Given the description of an element on the screen output the (x, y) to click on. 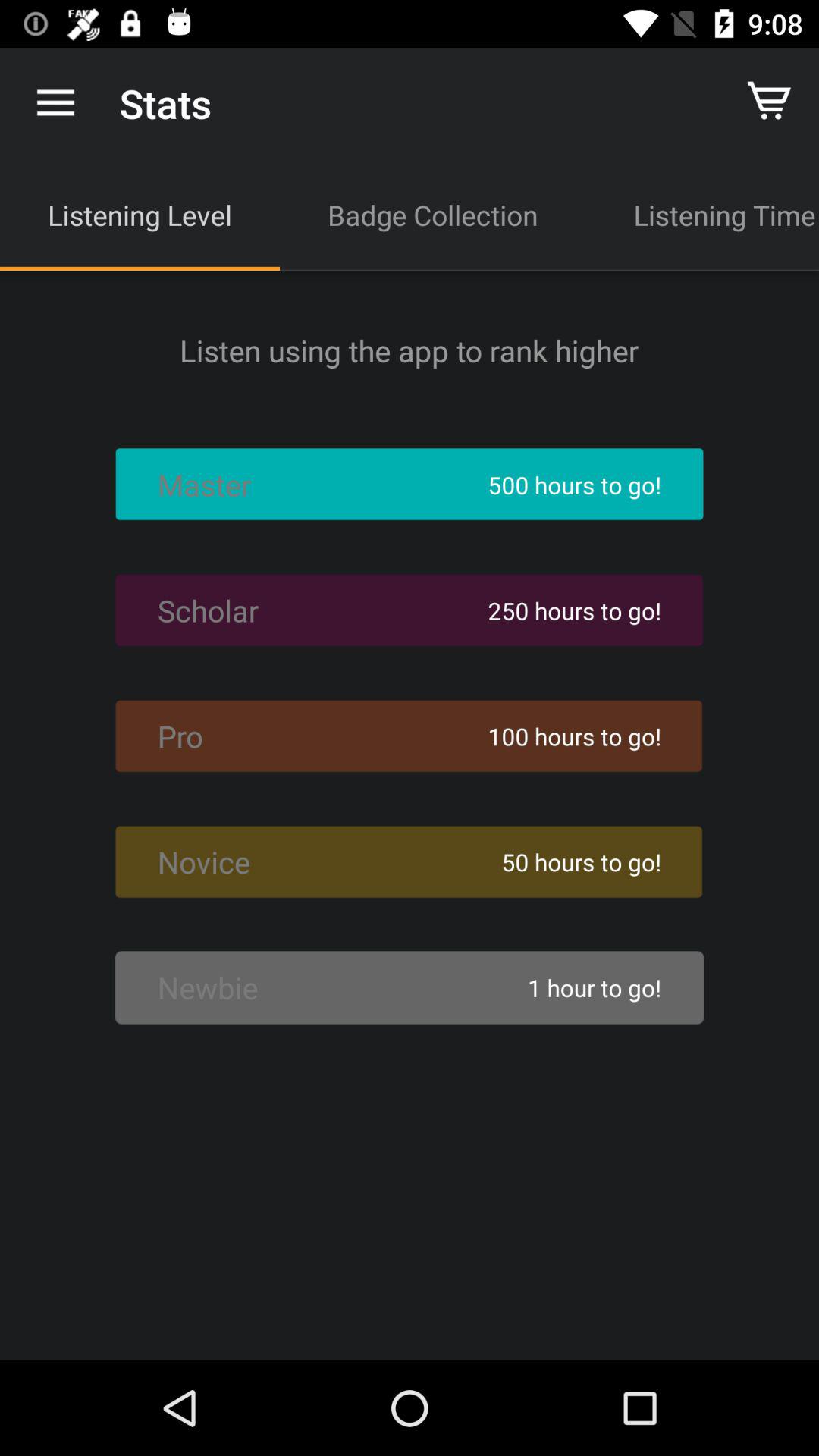
swipe to the listening level (139, 214)
